Given the description of an element on the screen output the (x, y) to click on. 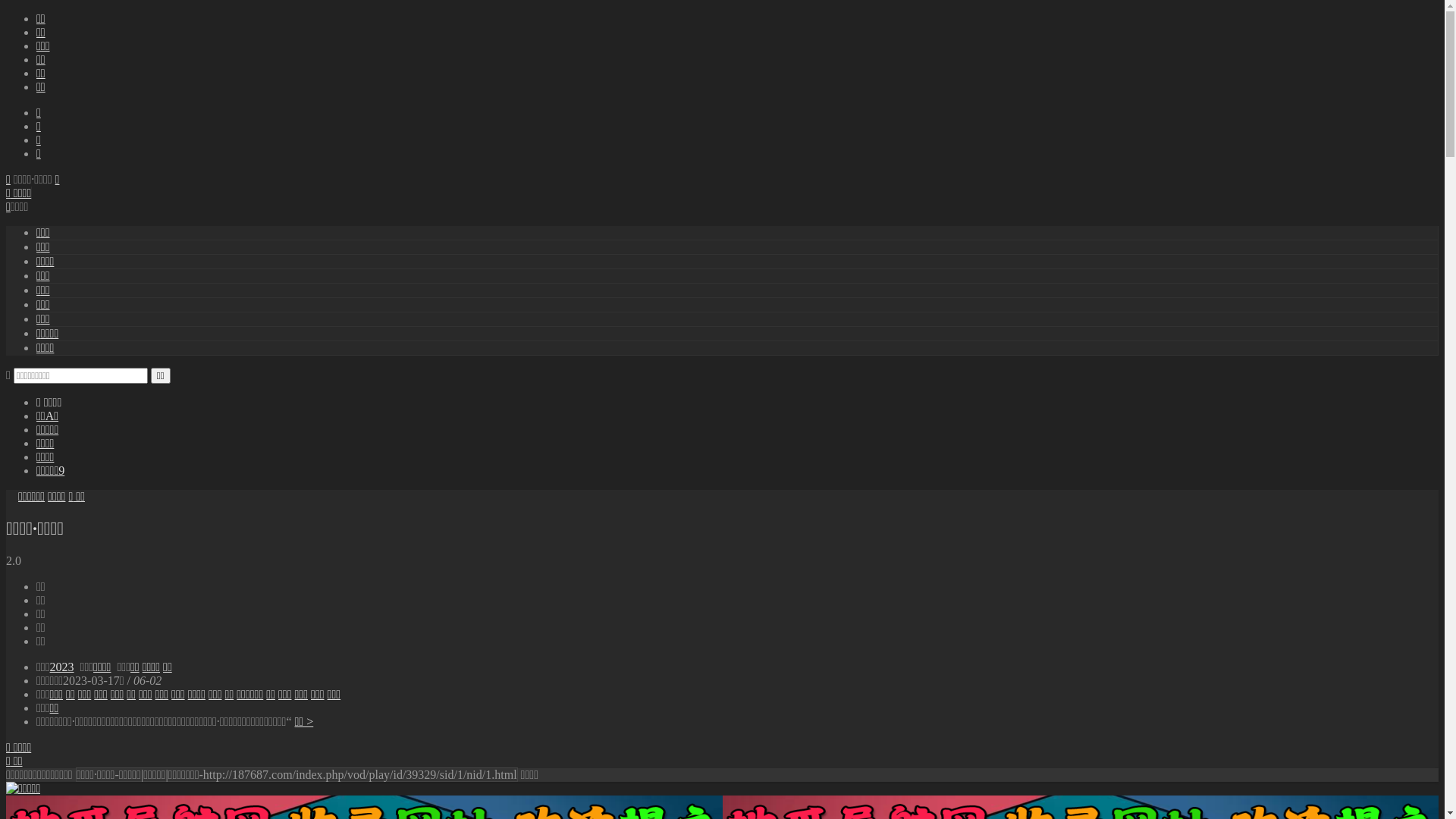
2023 Element type: text (62, 666)
